Given the description of an element on the screen output the (x, y) to click on. 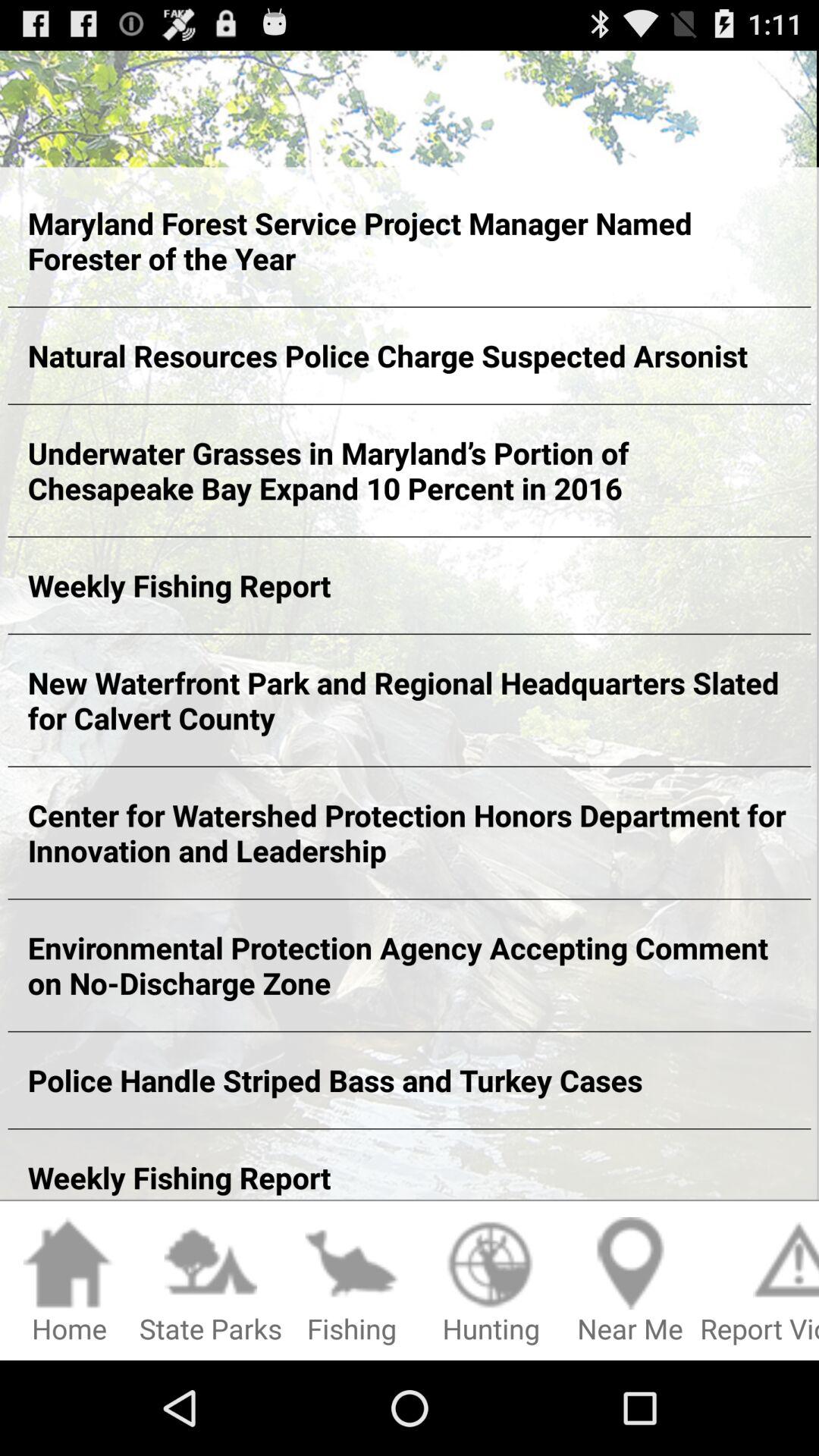
select the item to the right of hunting icon (630, 1282)
